Given the description of an element on the screen output the (x, y) to click on. 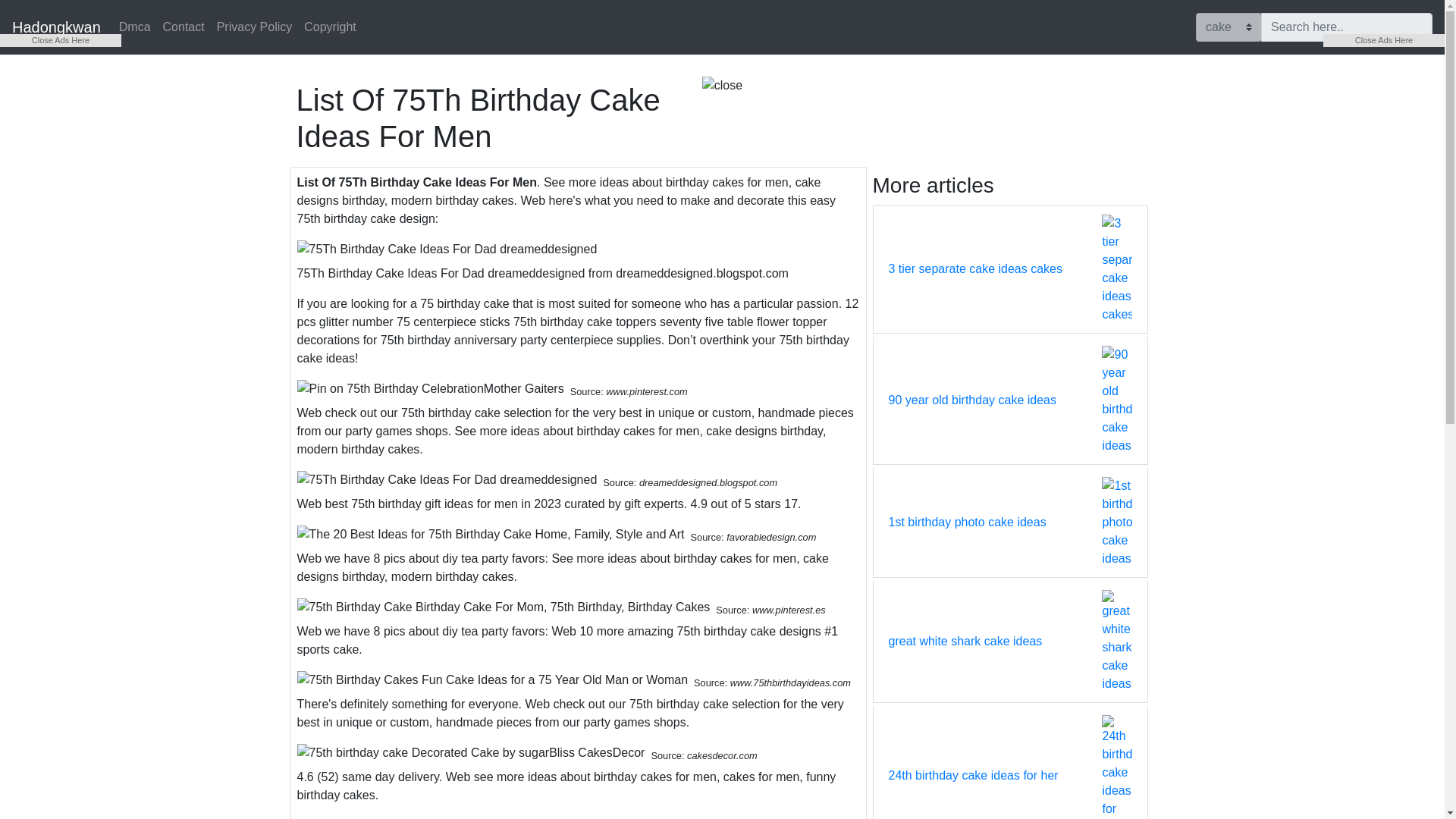
1st birthday photo cake ideas (967, 522)
24th birthday cake ideas for her (973, 775)
close button (721, 85)
Privacy Policy (254, 27)
Hadongkwan (55, 27)
3 tier separate cake ideas cakes (975, 269)
Dmca (135, 27)
great white shark cake ideas (965, 641)
Copyright (329, 27)
90 year old birthday cake ideas (972, 400)
